Given the description of an element on the screen output the (x, y) to click on. 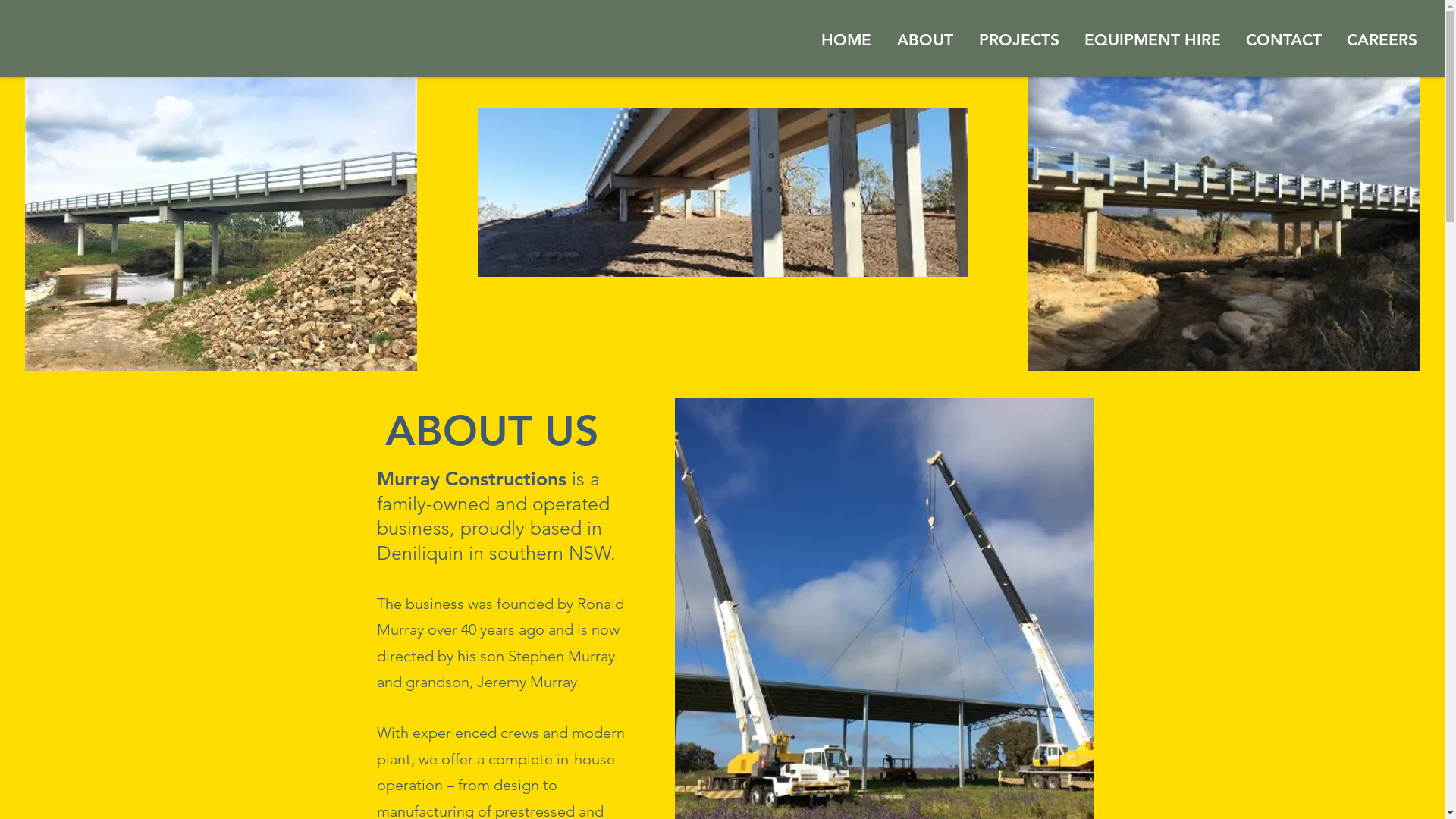
brightened_edited.jpg Element type: hover (220, 223)
PROJECTS Element type: text (1018, 39)
EQUIPMENT HIRE Element type: text (1152, 39)
HOME Element type: text (846, 39)
CAREERS Element type: text (1381, 39)
gumin bridge pic 3_edited.jpg Element type: hover (1223, 223)
ABOUT Element type: text (925, 39)
birrie bridge resized.jpg Element type: hover (722, 191)
CONTACT Element type: text (1283, 39)
